Given the description of an element on the screen output the (x, y) to click on. 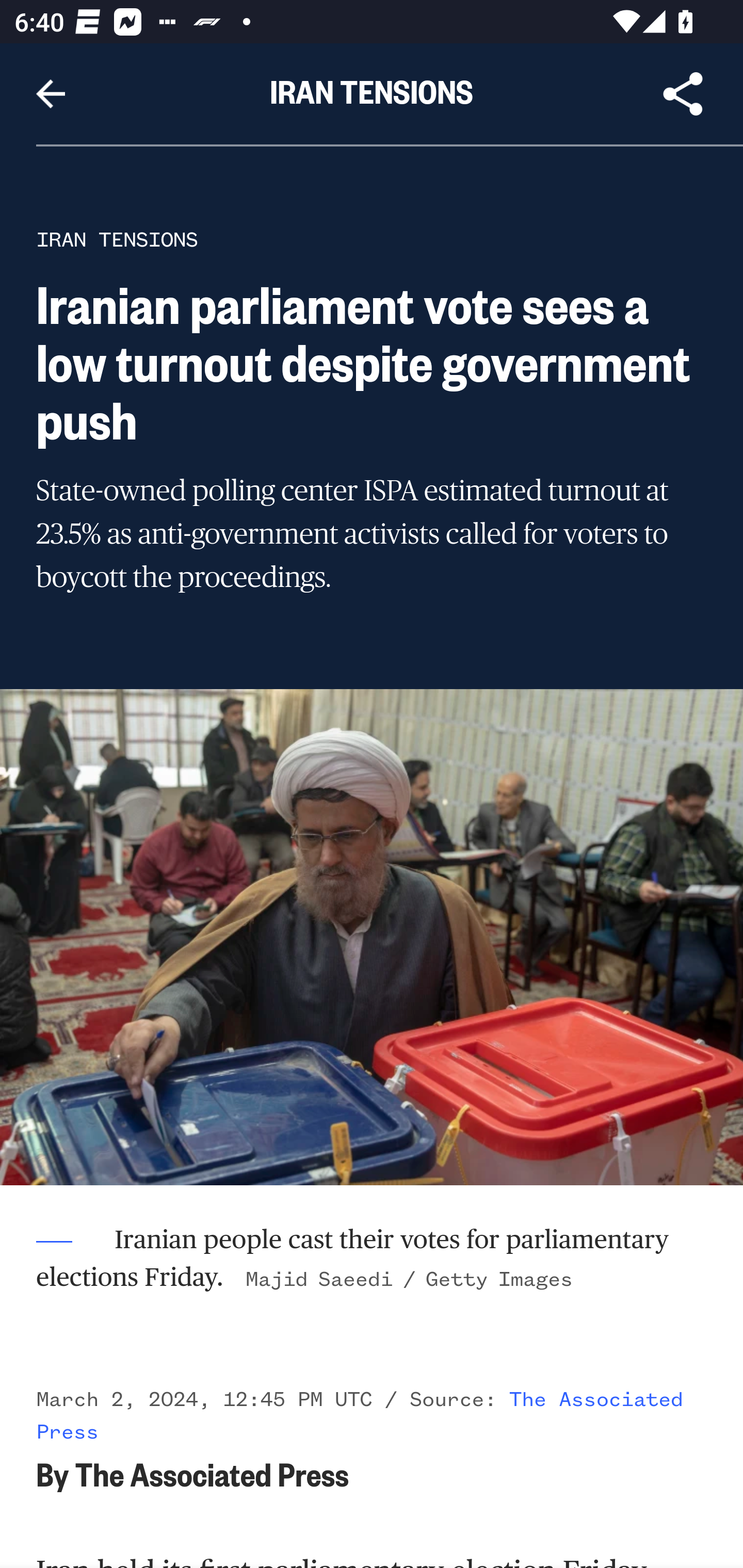
Navigate up (50, 93)
Share Article, button (683, 94)
IRAN TENSIONS (117, 239)
The Associated Press (360, 1415)
